Given the description of an element on the screen output the (x, y) to click on. 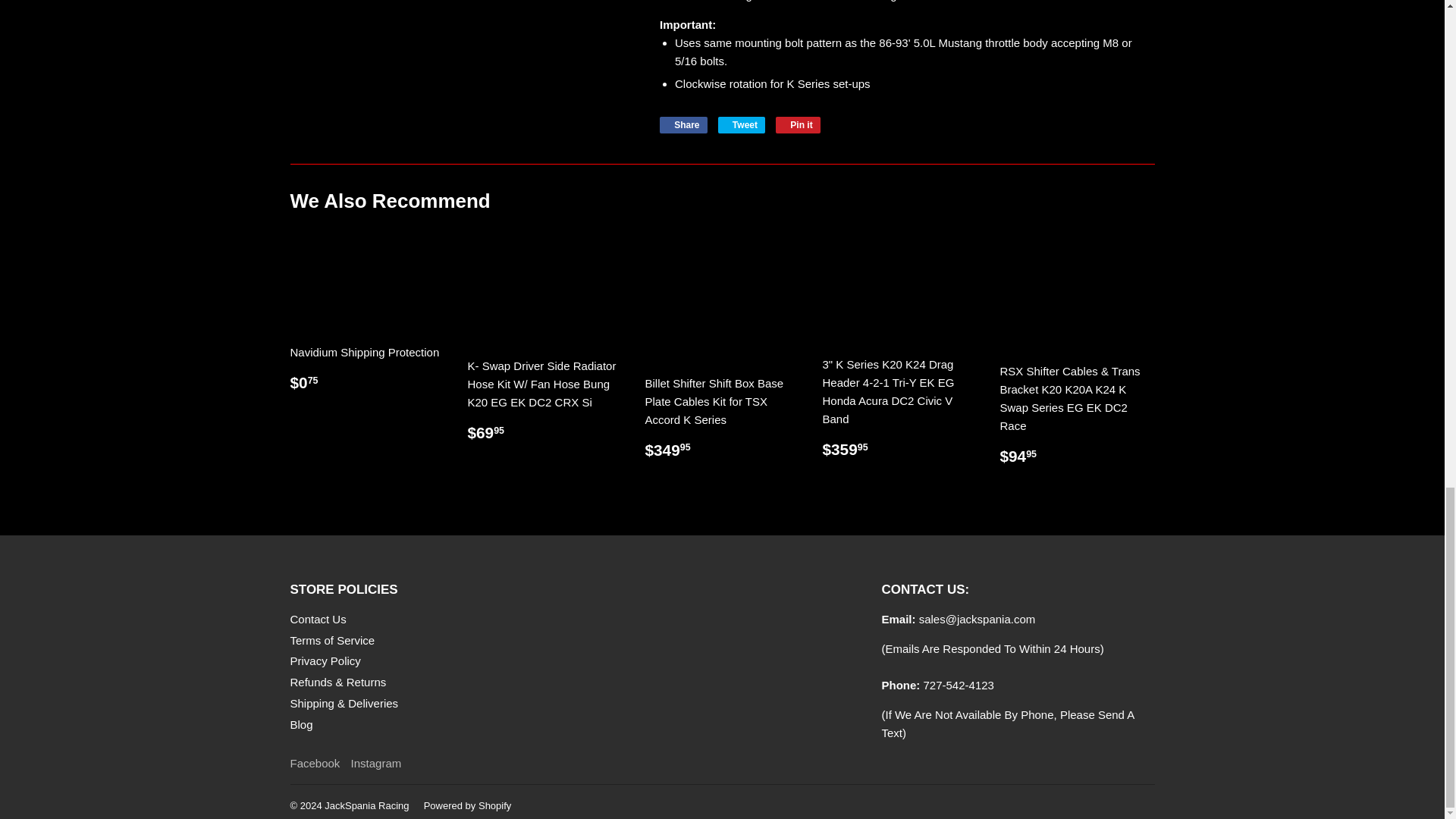
Pin on Pinterest (798, 125)
JackSpania Racing on Facebook (314, 762)
Tweet on Twitter (741, 125)
JackSpania Racing on Instagram (375, 762)
Share on Facebook (683, 125)
